Given the description of an element on the screen output the (x, y) to click on. 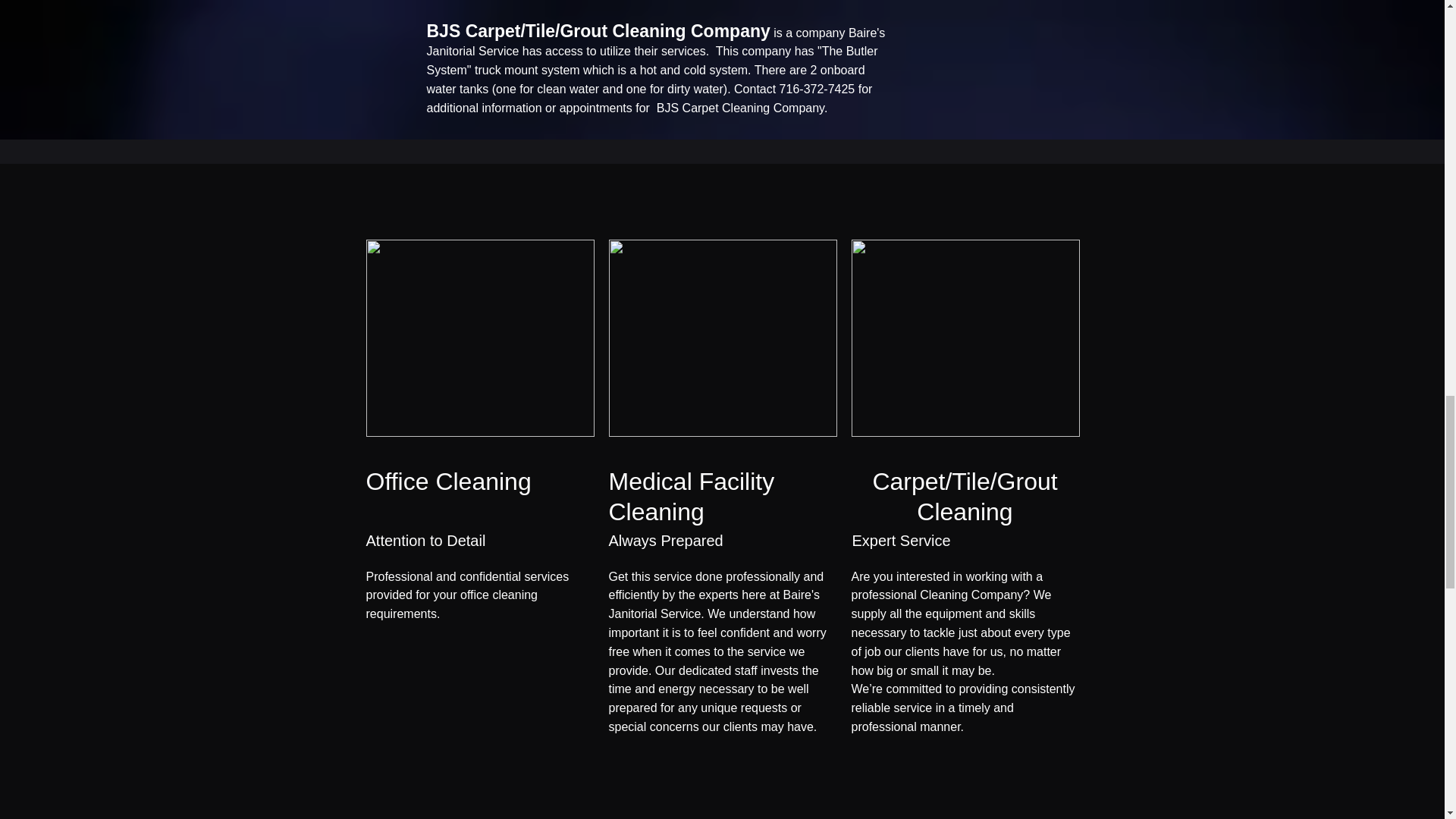
Scrubbing the Walls (721, 337)
Woman Cleaning Furniture (479, 337)
Vaccum Cleaner (964, 337)
